Given the description of an element on the screen output the (x, y) to click on. 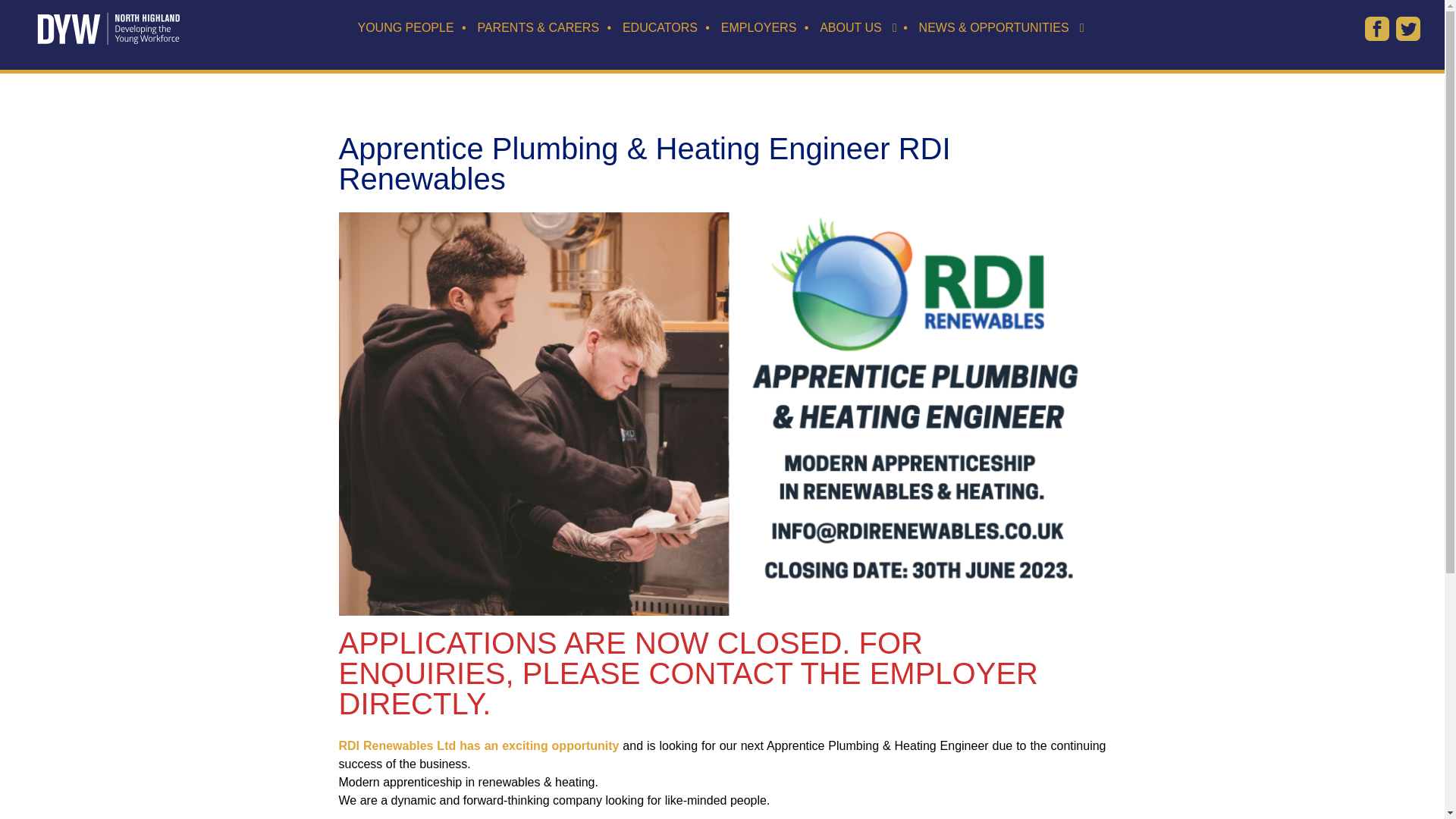
ABOUT US (850, 2)
EMPLOYERS (758, 1)
